Given the description of an element on the screen output the (x, y) to click on. 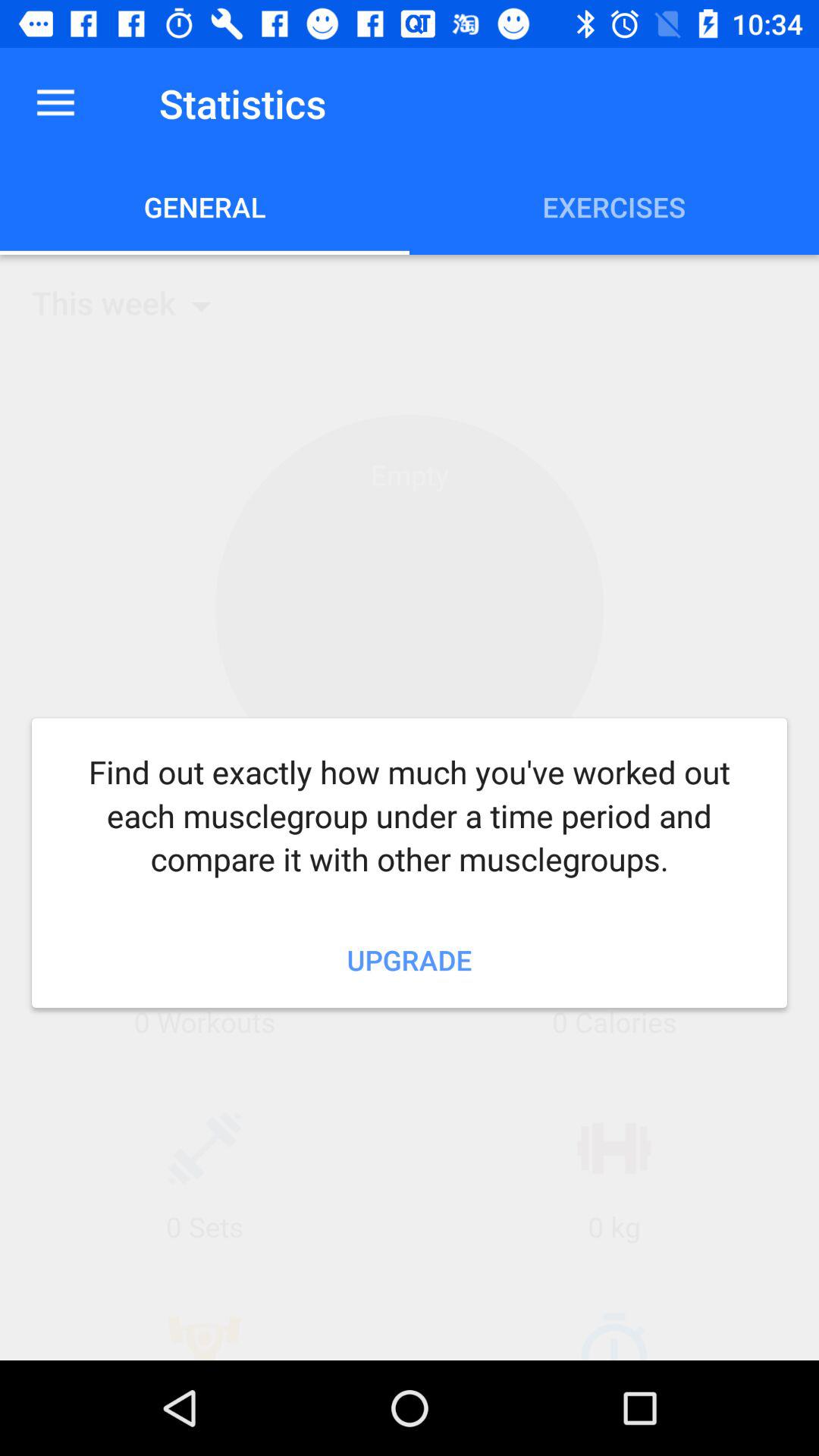
swipe until general item (204, 206)
